Given the description of an element on the screen output the (x, y) to click on. 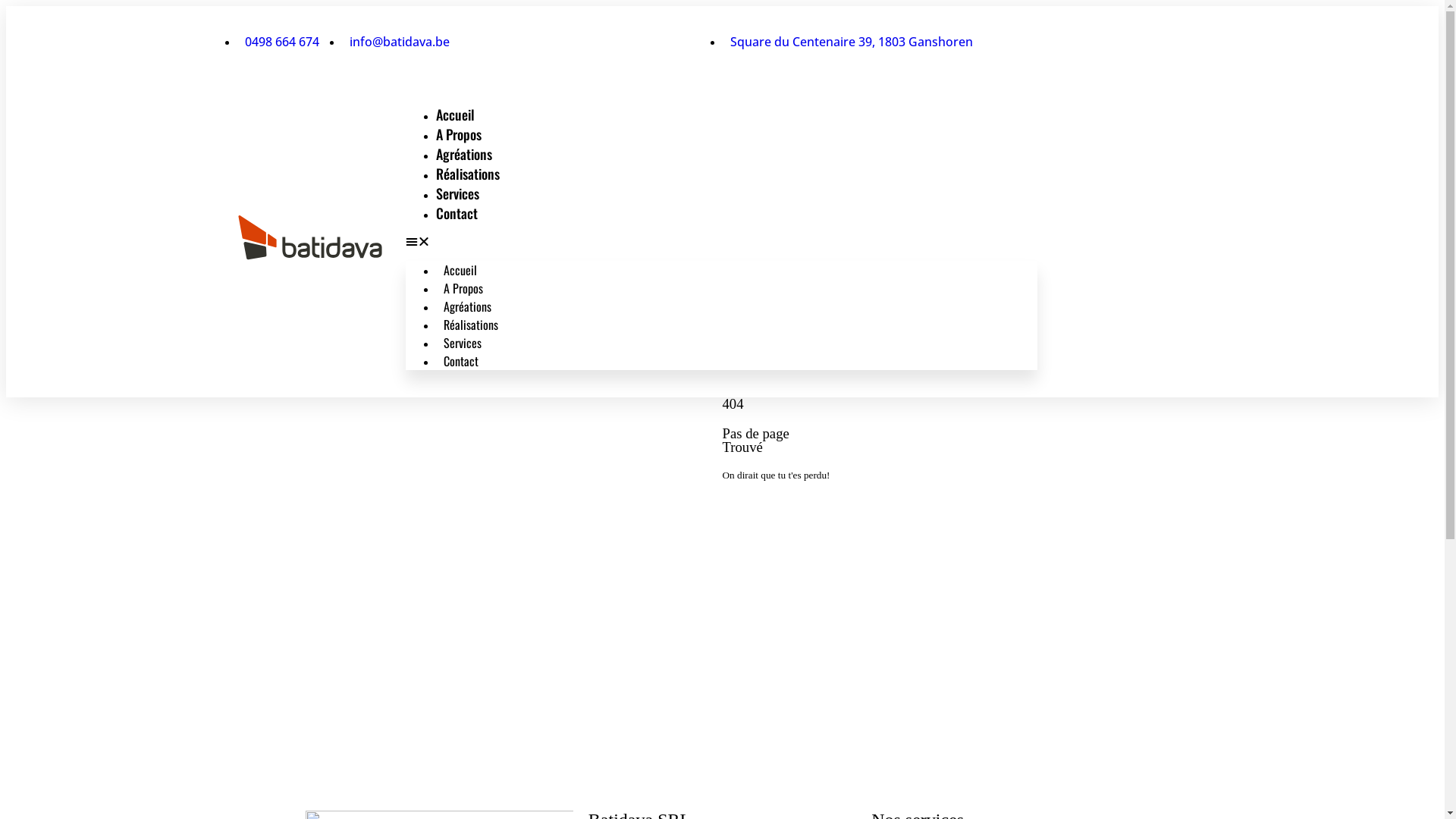
Square du Centenaire 39, 1803 Ganshoren Element type: text (846, 41)
A Propos Element type: text (462, 287)
0498 664 674 Element type: text (1140, 236)
Services Element type: text (456, 193)
ACCUEIL Element type: text (764, 509)
info@batidava.be Element type: text (394, 41)
Contact Element type: text (460, 360)
Accueil Element type: text (454, 114)
0498 664 674 Element type: text (277, 41)
A Propos Element type: text (457, 134)
Services Element type: text (461, 342)
Accueil Element type: text (459, 269)
Contact Element type: text (455, 212)
